Given the description of an element on the screen output the (x, y) to click on. 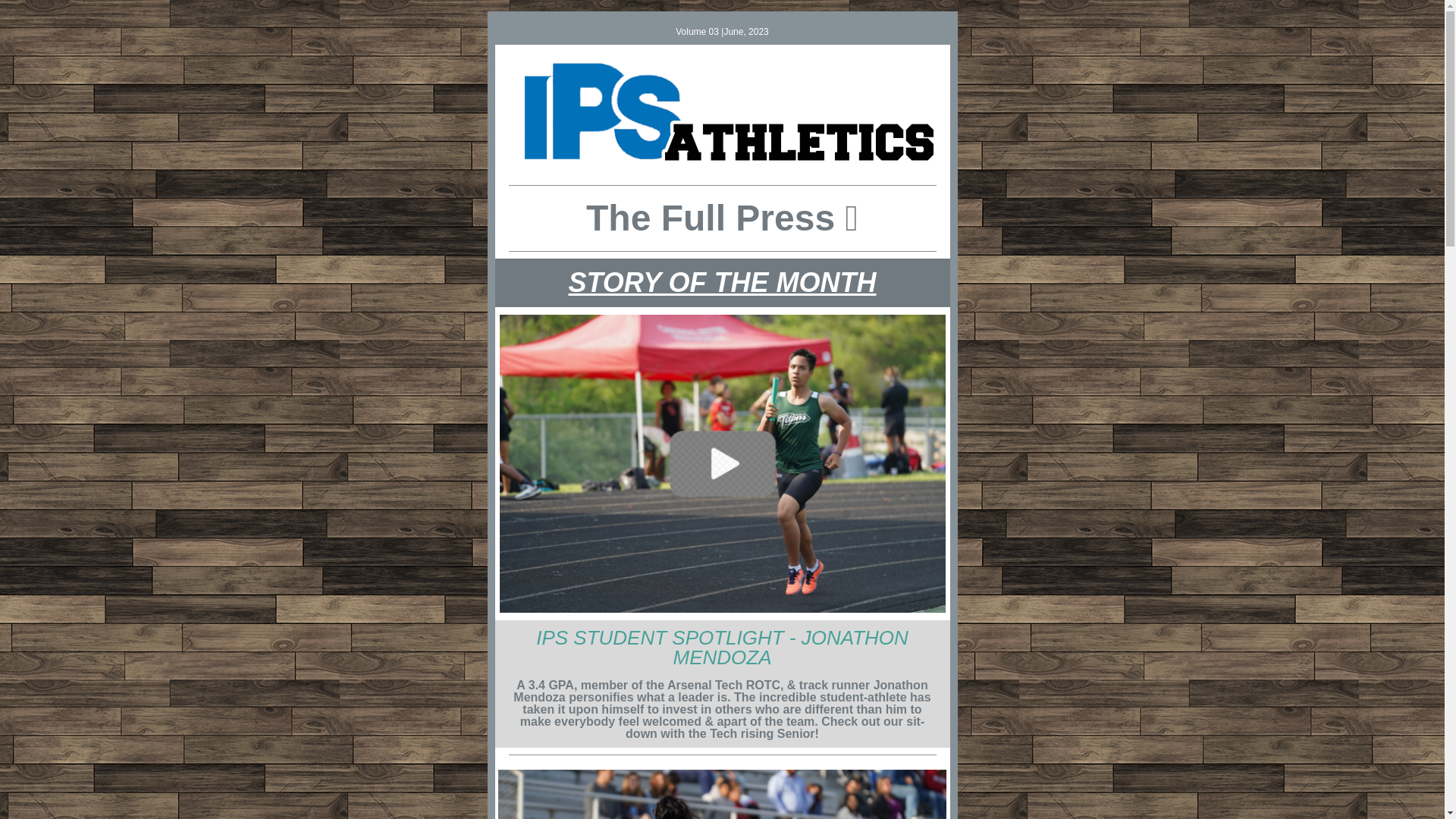
IPS STUDENT SPOTLIGHT - JONATHON MENDOZA (721, 647)
